Given the description of an element on the screen output the (x, y) to click on. 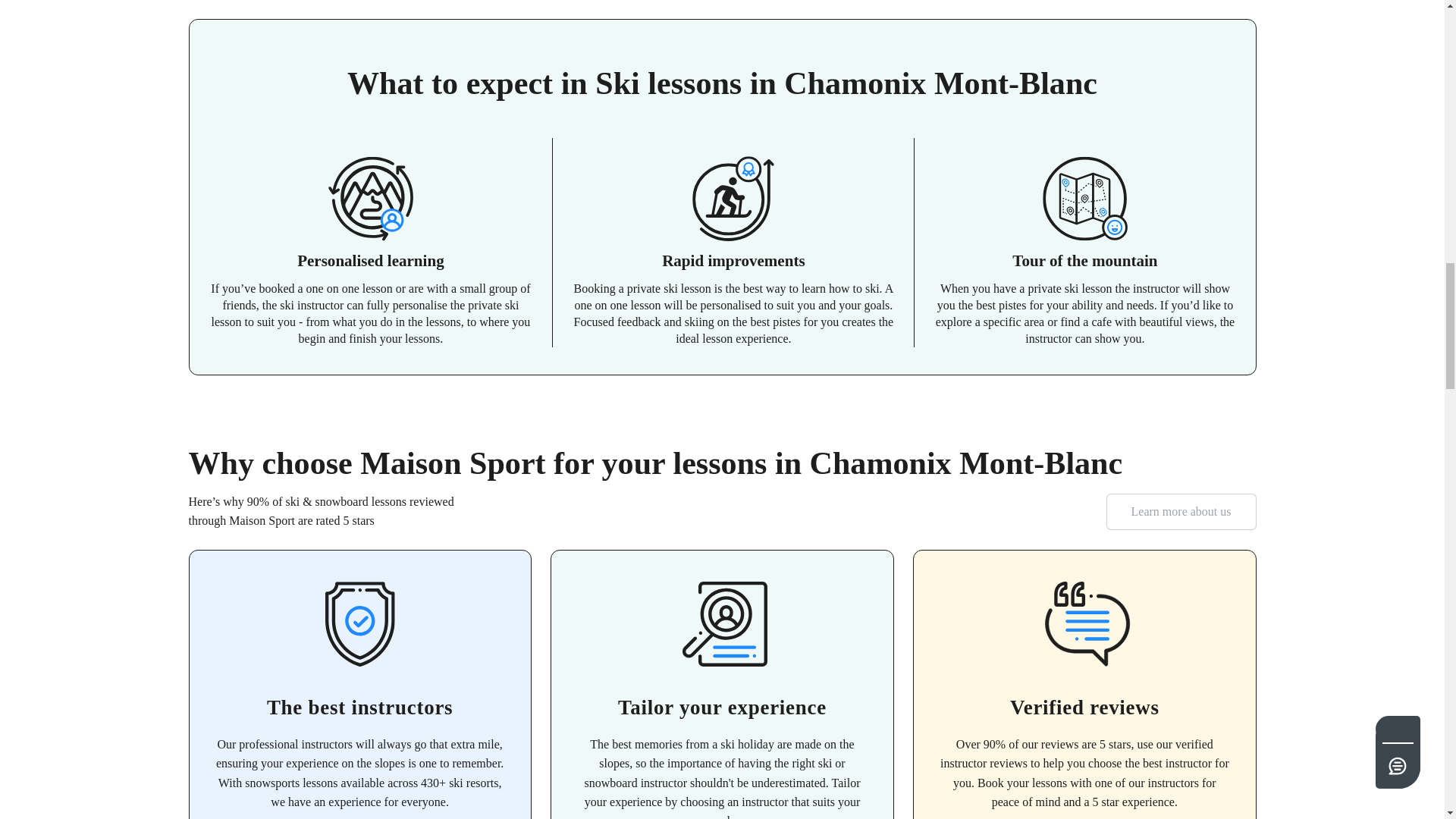
Learn more about us (1181, 511)
